Given the description of an element on the screen output the (x, y) to click on. 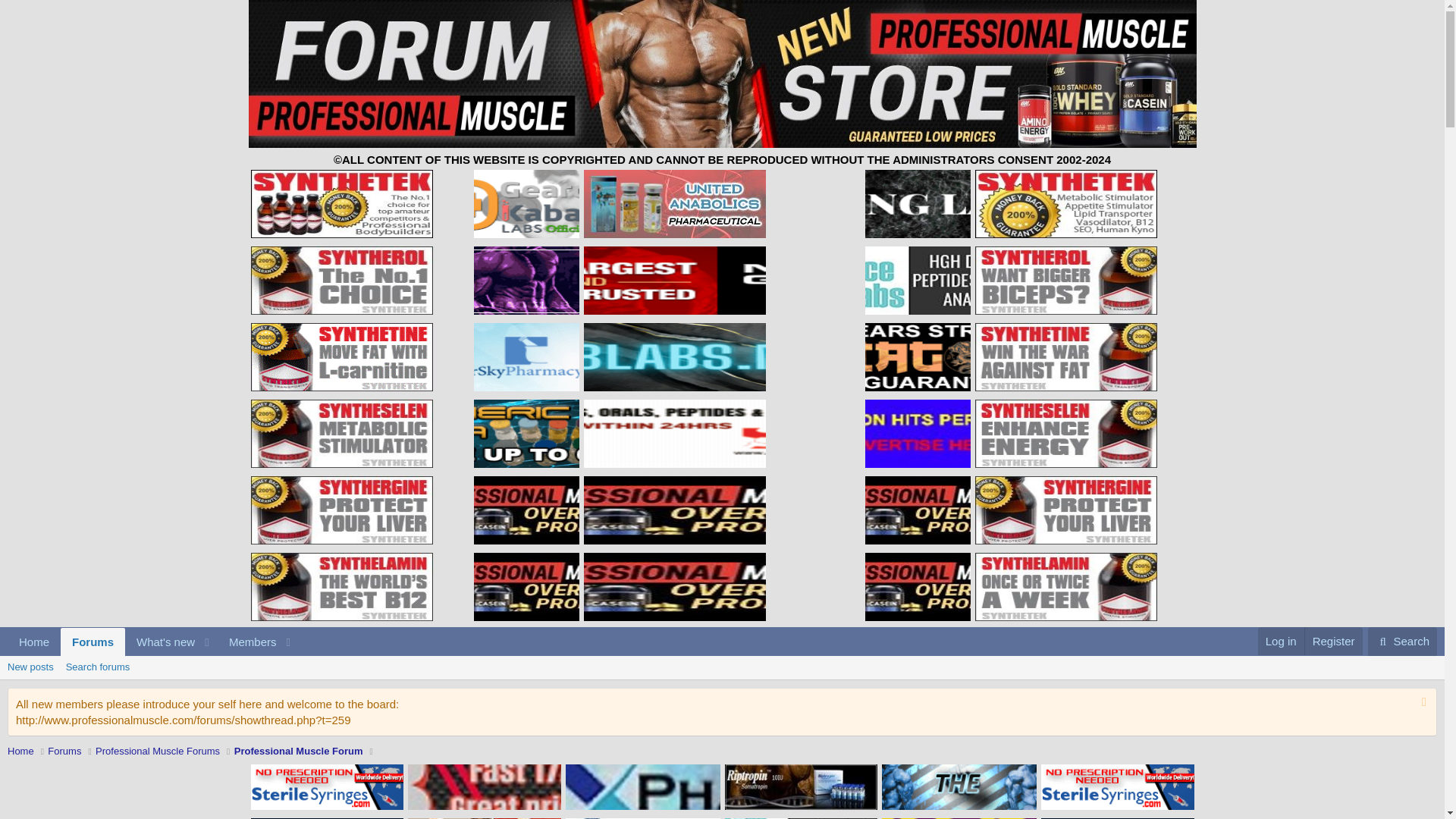
What's new (160, 642)
Gear Depot (526, 203)
Synthetek Industries (341, 586)
Synthetek Industries (1066, 280)
Synthetek Industries (1066, 433)
Synthetek Industries (152, 659)
Professional Muscle Store (1066, 509)
United Anabolics (917, 509)
Synthetek Industries (674, 203)
Professional Muscle Store (341, 433)
Synthetek Industries (526, 509)
Synthetek Industries (152, 642)
Synthetek Industries (341, 509)
